Given the description of an element on the screen output the (x, y) to click on. 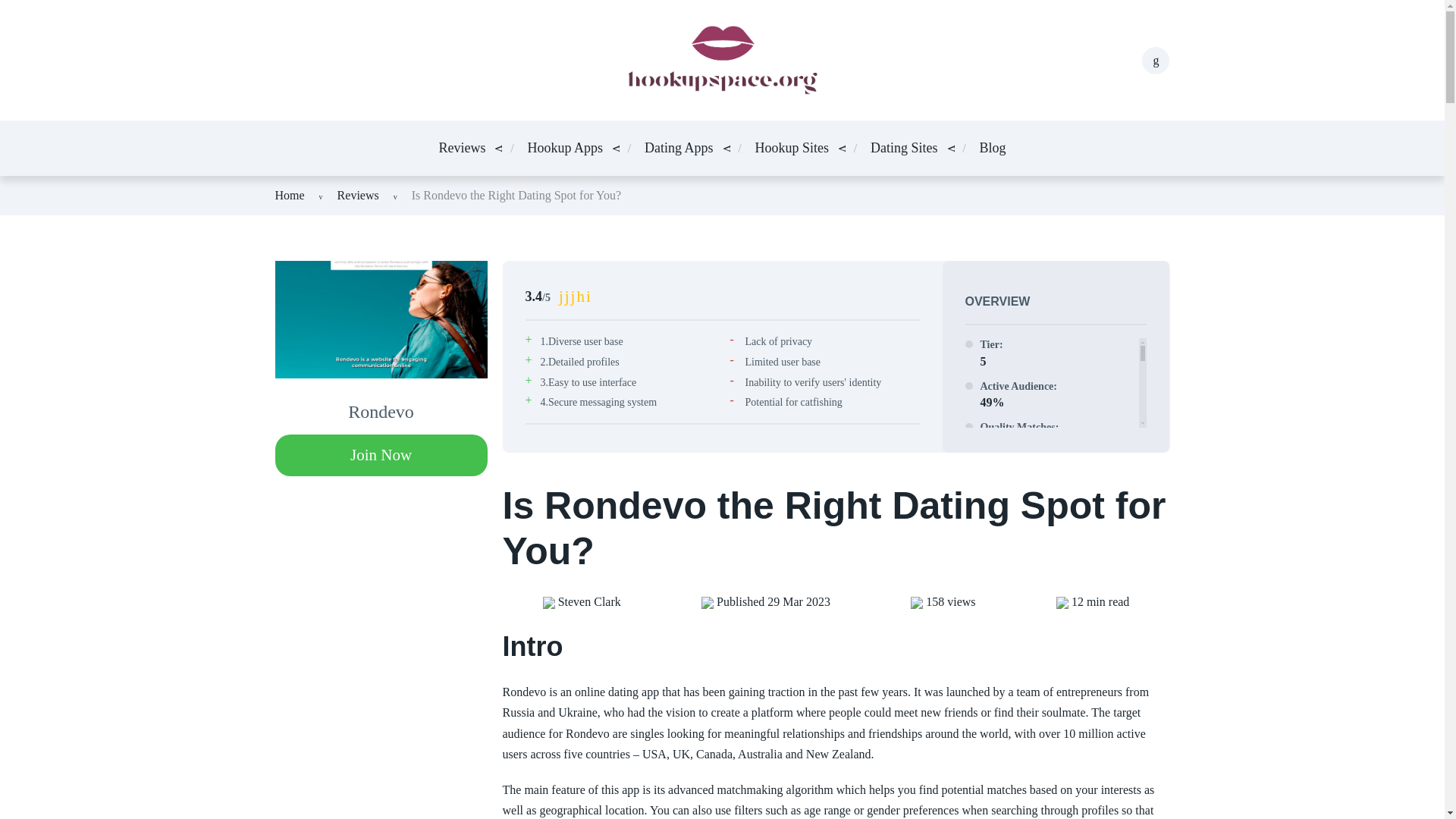
Is Rondevo the Right Dating Spot for You? (516, 195)
Reviews (357, 195)
Home (289, 195)
Reviews (461, 148)
